Given the description of an element on the screen output the (x, y) to click on. 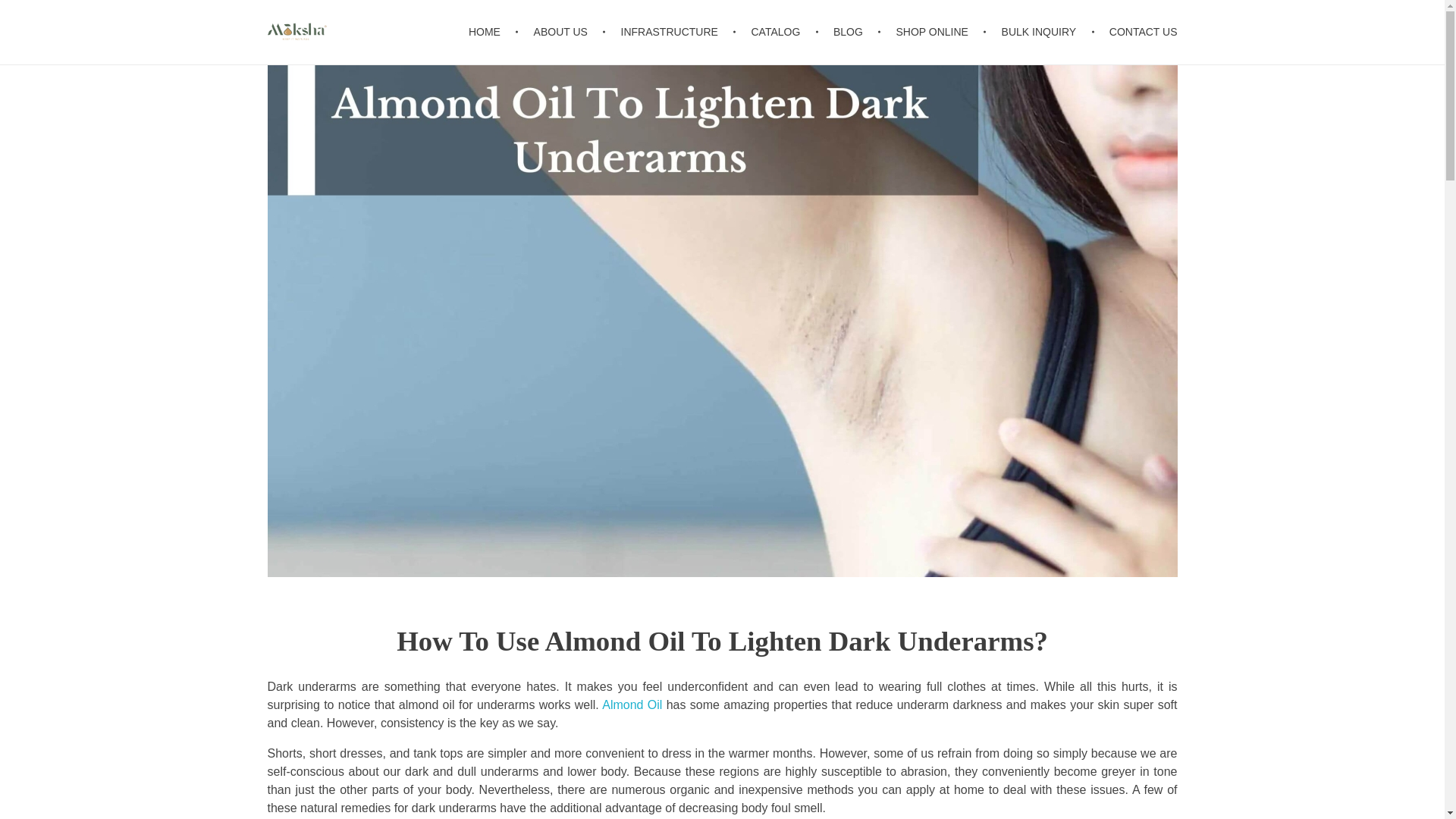
SHOP ONLINE (934, 32)
ABOUT US (563, 32)
Almond Oil (632, 704)
CATALOG (777, 32)
BULK INQUIRY (1040, 32)
INFRASTRUCTURE (671, 32)
Moksha Lifestyle Products (381, 59)
Moksha Lifestyle Products (381, 59)
CONTACT US (1135, 32)
BLOG (850, 32)
